Given the description of an element on the screen output the (x, y) to click on. 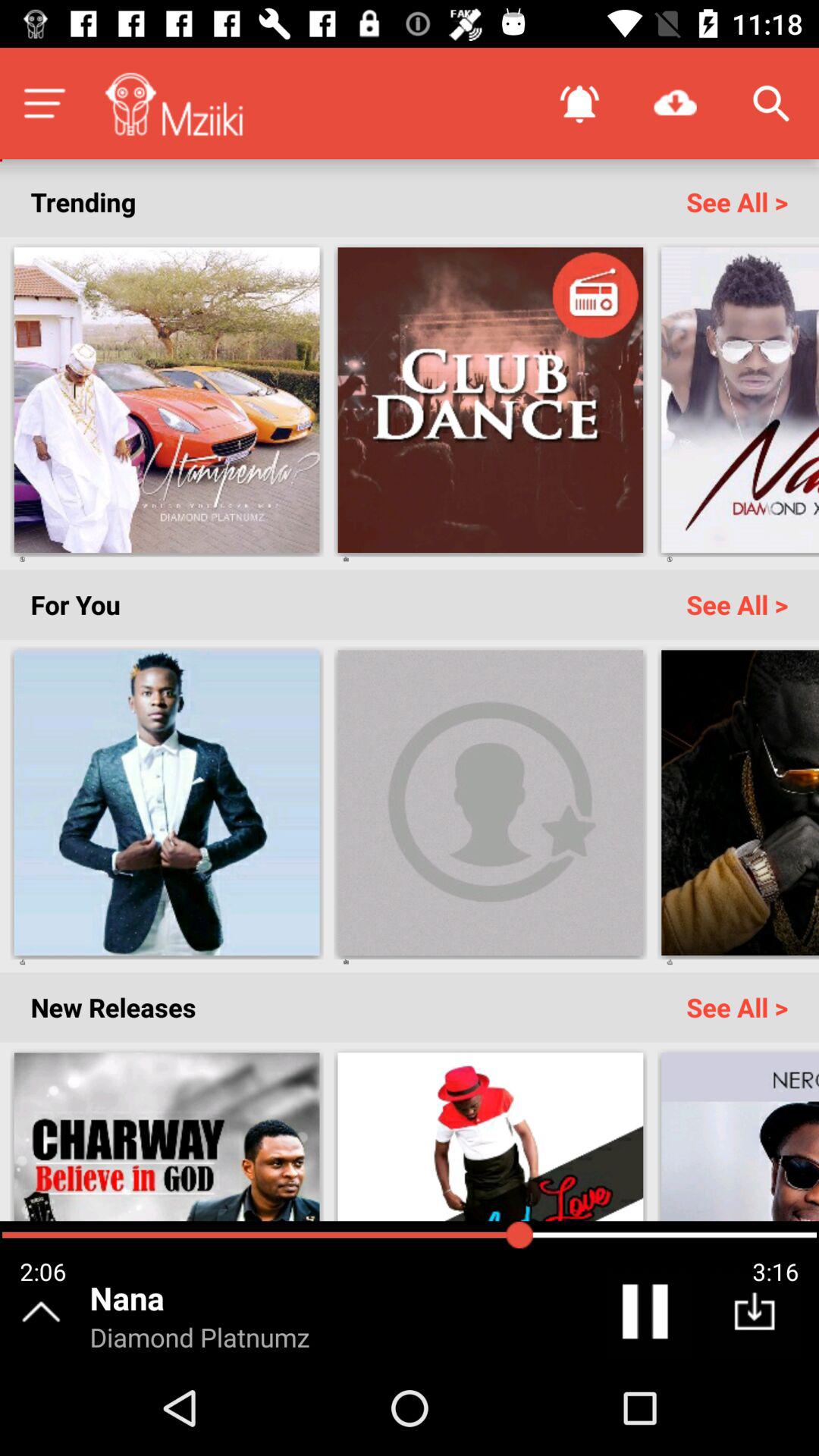
pause song (647, 1315)
